Given the description of an element on the screen output the (x, y) to click on. 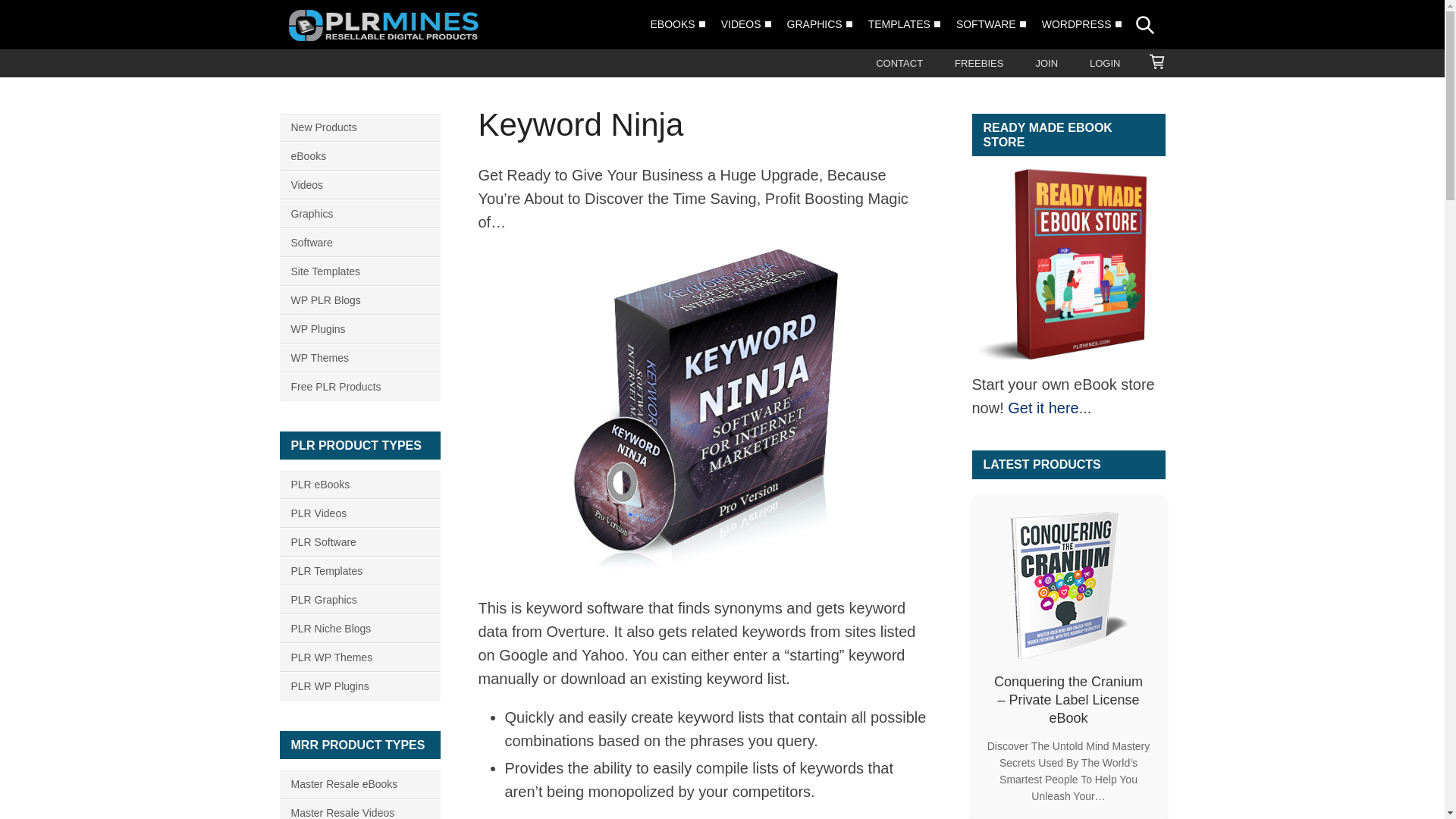
VIDEOS (740, 23)
WORDPRESS (1076, 23)
EBOOKS (673, 23)
GRAPHICS (814, 23)
TEMPLATES (899, 23)
Checkout (1156, 62)
SOFTWARE (986, 23)
